Given the description of an element on the screen output the (x, y) to click on. 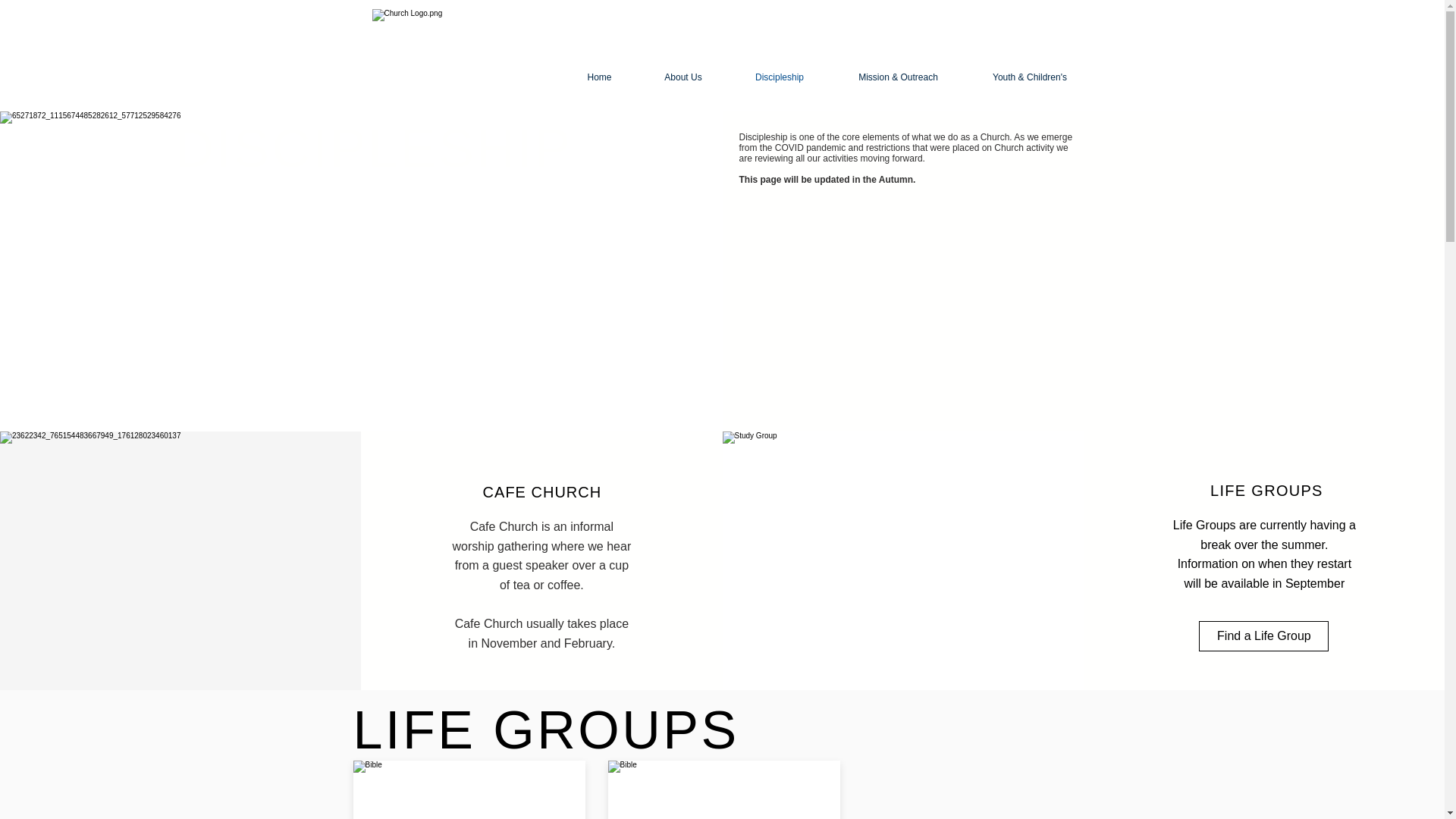
Discipleship (778, 77)
About Us (684, 77)
Home (599, 77)
Find a Life Group (1262, 635)
